Given the description of an element on the screen output the (x, y) to click on. 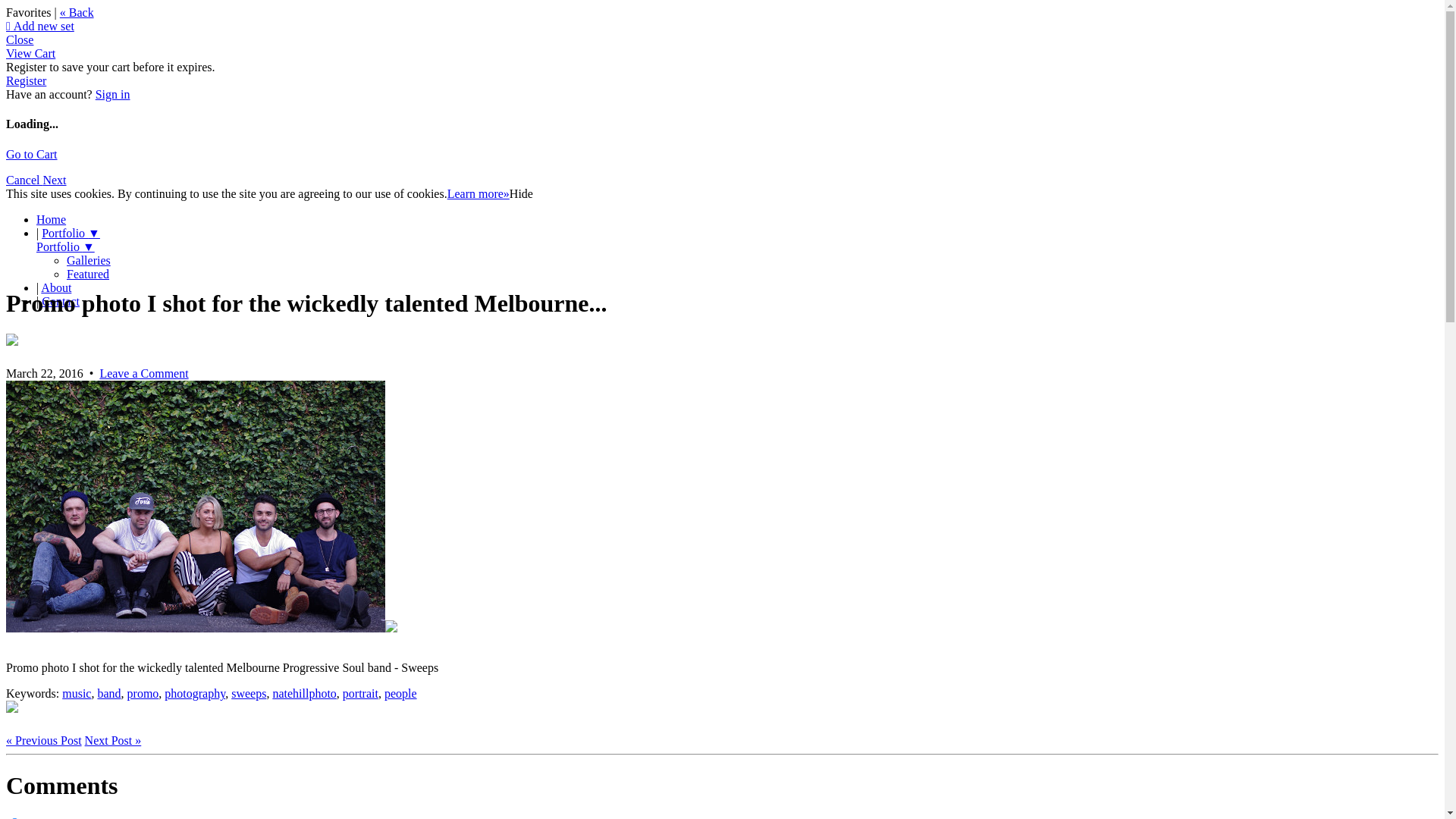
people Element type: text (400, 693)
View Cart Element type: text (30, 53)
Home Element type: text (50, 219)
Featured Element type: text (87, 273)
photography Element type: text (194, 693)
Sign in Element type: text (112, 93)
Register Element type: text (26, 80)
Next Element type: text (53, 179)
Cancel Element type: text (24, 179)
Go to Cart Element type: text (31, 153)
Galleries Element type: text (88, 260)
sweeps Element type: text (248, 693)
music Element type: text (76, 693)
Contact Element type: text (60, 300)
About Element type: text (55, 287)
natehillphoto Element type: text (303, 693)
Close Element type: text (19, 39)
promo Element type: text (143, 693)
Leave a Comment Element type: text (143, 373)
Hide Element type: text (521, 193)
portrait Element type: text (360, 693)
band Element type: text (108, 693)
